Given the description of an element on the screen output the (x, y) to click on. 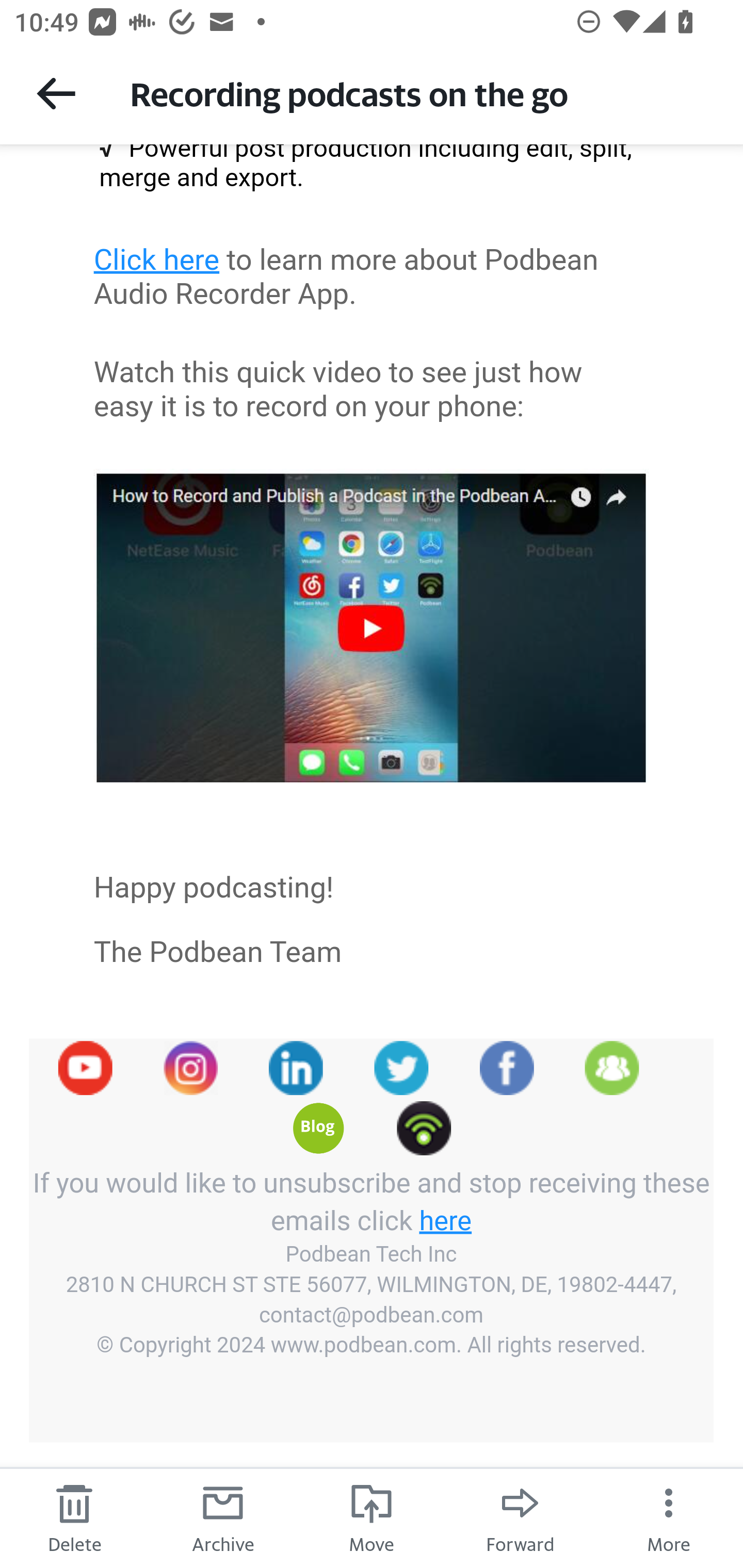
Back (55, 92)
Click here (156, 259)
here (445, 1219)
Delete (74, 1517)
Archive (222, 1517)
Move (371, 1517)
Forward (519, 1517)
More (668, 1517)
